Given the description of an element on the screen output the (x, y) to click on. 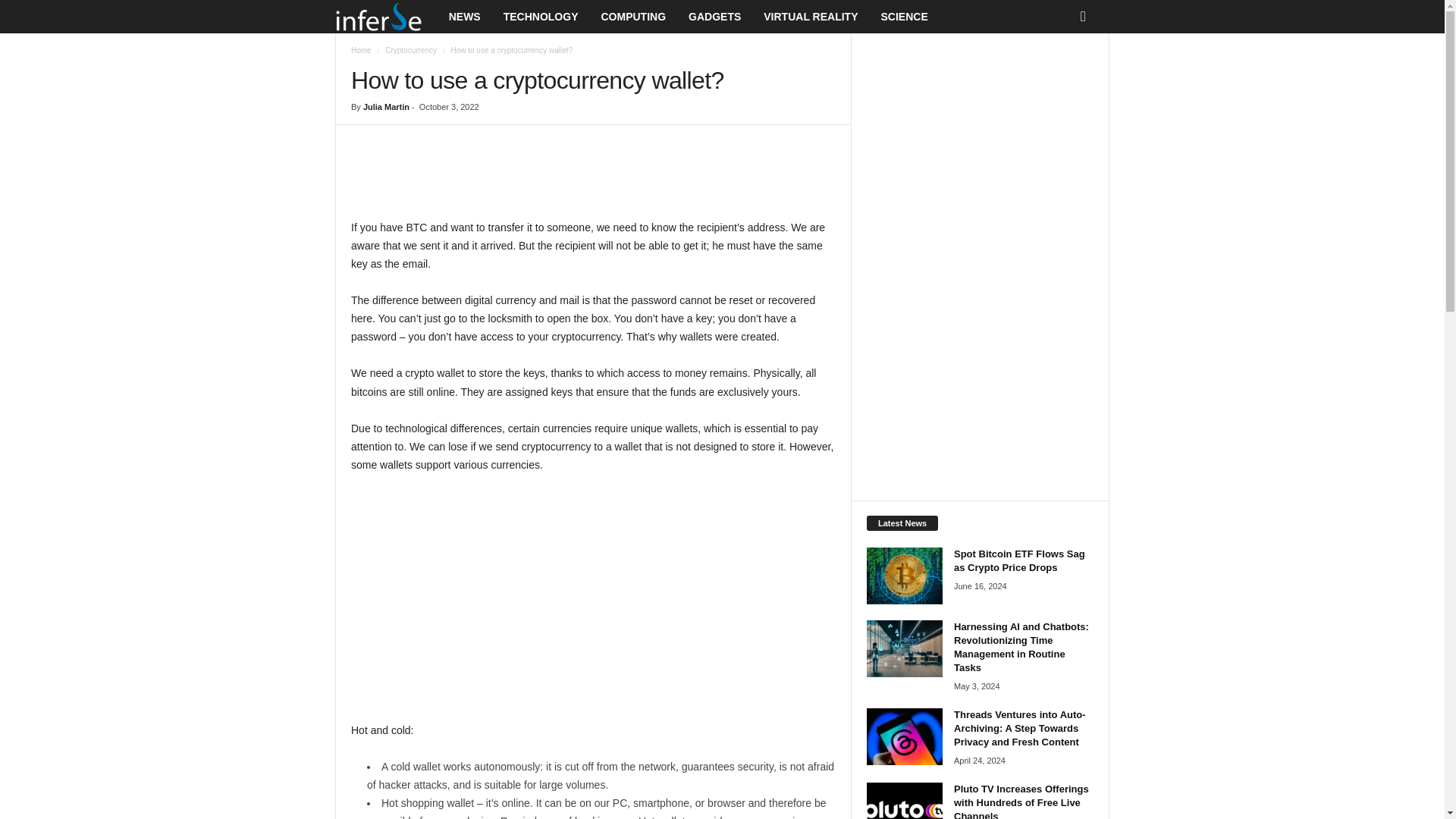
Home (360, 49)
Inferse.com (386, 17)
SCIENCE (904, 16)
NEWS (465, 16)
Advertisement (593, 178)
Advertisement (592, 598)
Cryptocurrency (410, 49)
TECHNOLOGY (540, 16)
Inferse (378, 16)
Julia Martin (385, 106)
VIRTUAL REALITY (810, 16)
COMPUTING (633, 16)
View all posts in Cryptocurrency (410, 49)
GADGETS (714, 16)
